Given the description of an element on the screen output the (x, y) to click on. 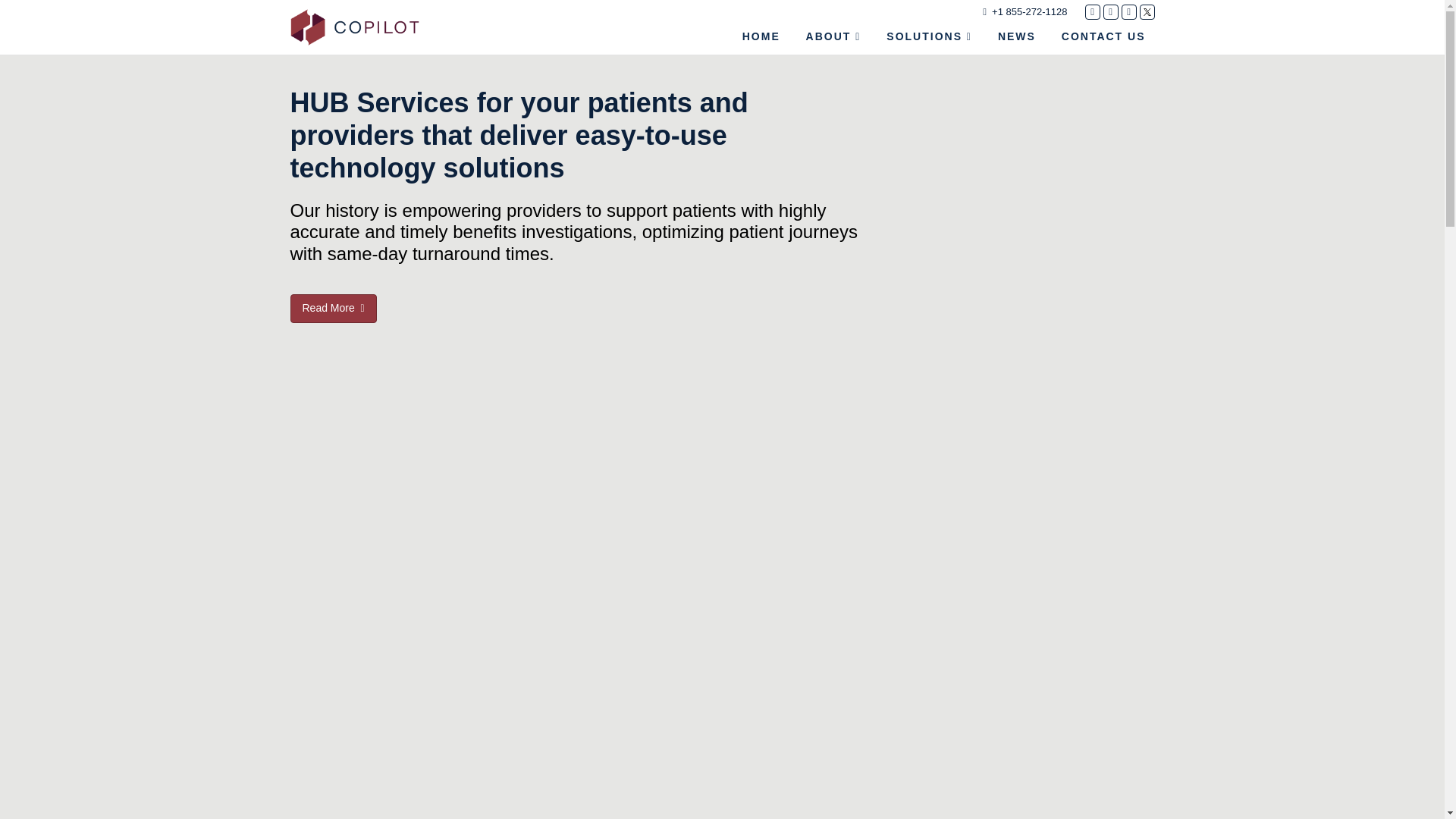
HOME (761, 36)
ABOUT (833, 36)
Read More   (332, 199)
CONTACT US (1103, 36)
SOLUTIONS (929, 36)
NEWS (1016, 36)
